Given the description of an element on the screen output the (x, y) to click on. 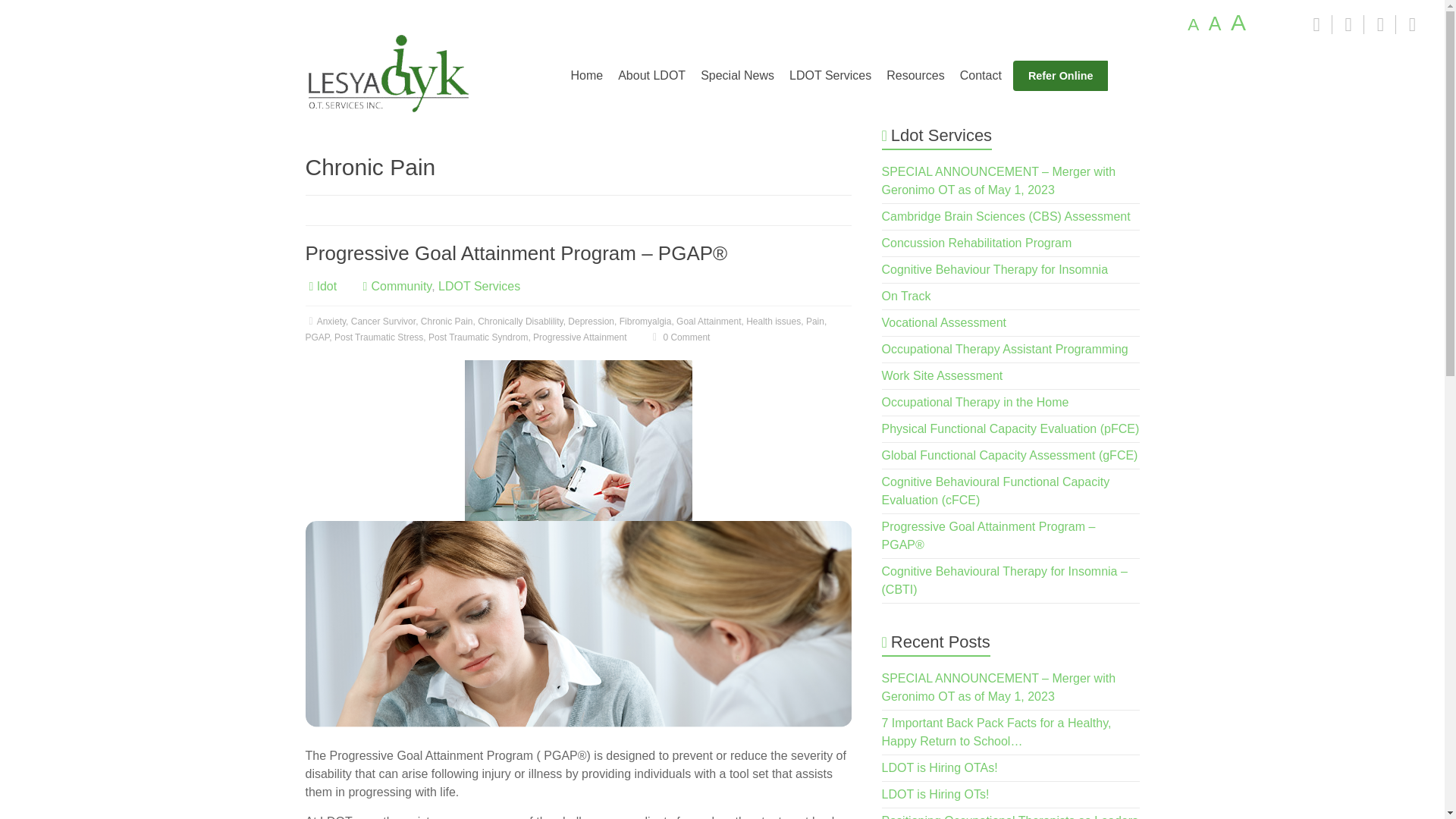
Anxiety (331, 321)
Chronically Disablility (519, 321)
Community (400, 286)
Depression (590, 321)
Home (586, 75)
Special News (737, 75)
About LDOT (651, 75)
Chronic Pain (446, 321)
Refer Online (1060, 75)
Cancer Survivor (382, 321)
Contact (980, 75)
Refer Online (1060, 75)
LDOT Services (478, 286)
LDOT Services (830, 75)
ldot (326, 286)
